Given the description of an element on the screen output the (x, y) to click on. 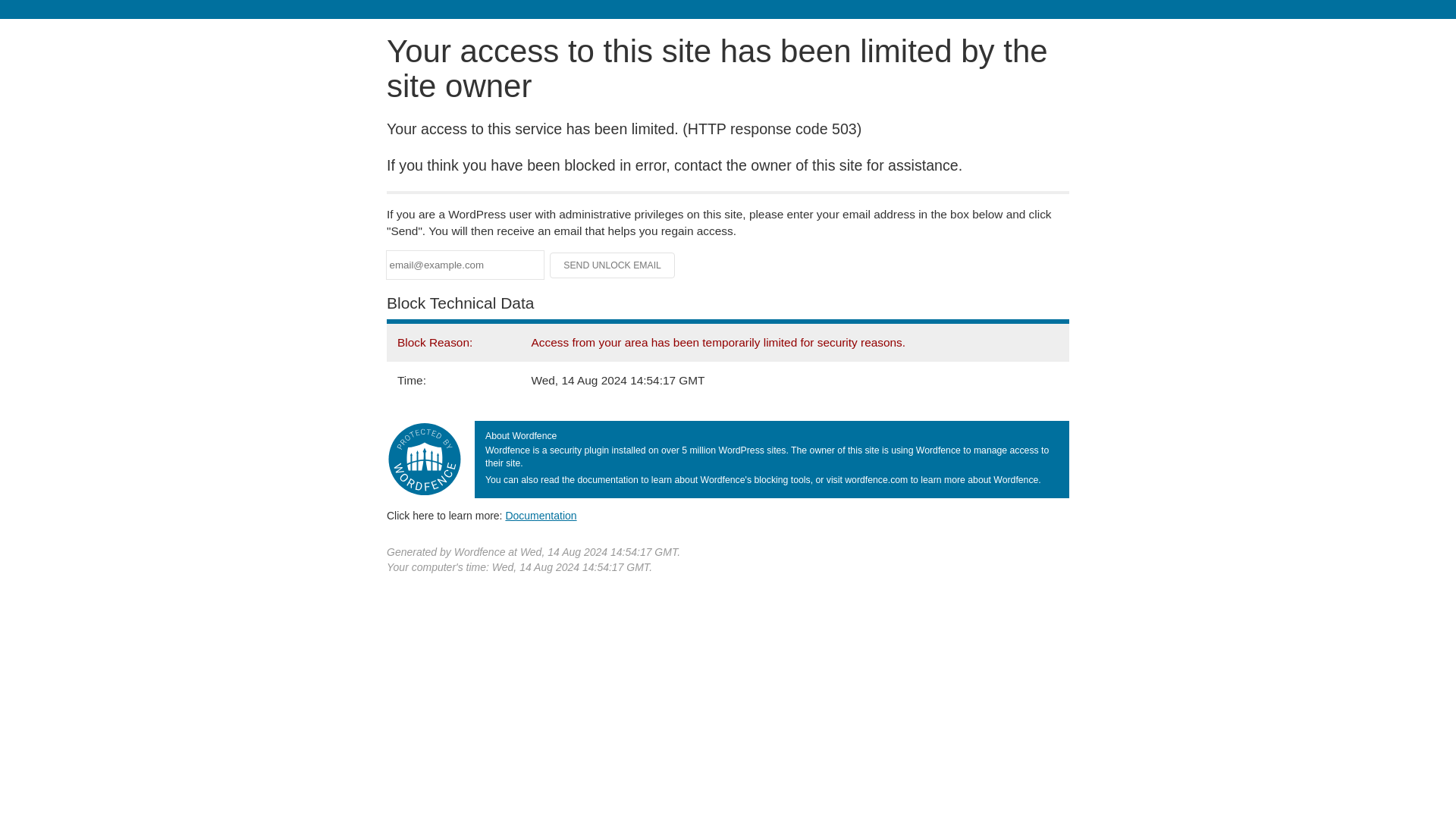
Documentation (540, 515)
Send Unlock Email (612, 265)
Send Unlock Email (612, 265)
